Given the description of an element on the screen output the (x, y) to click on. 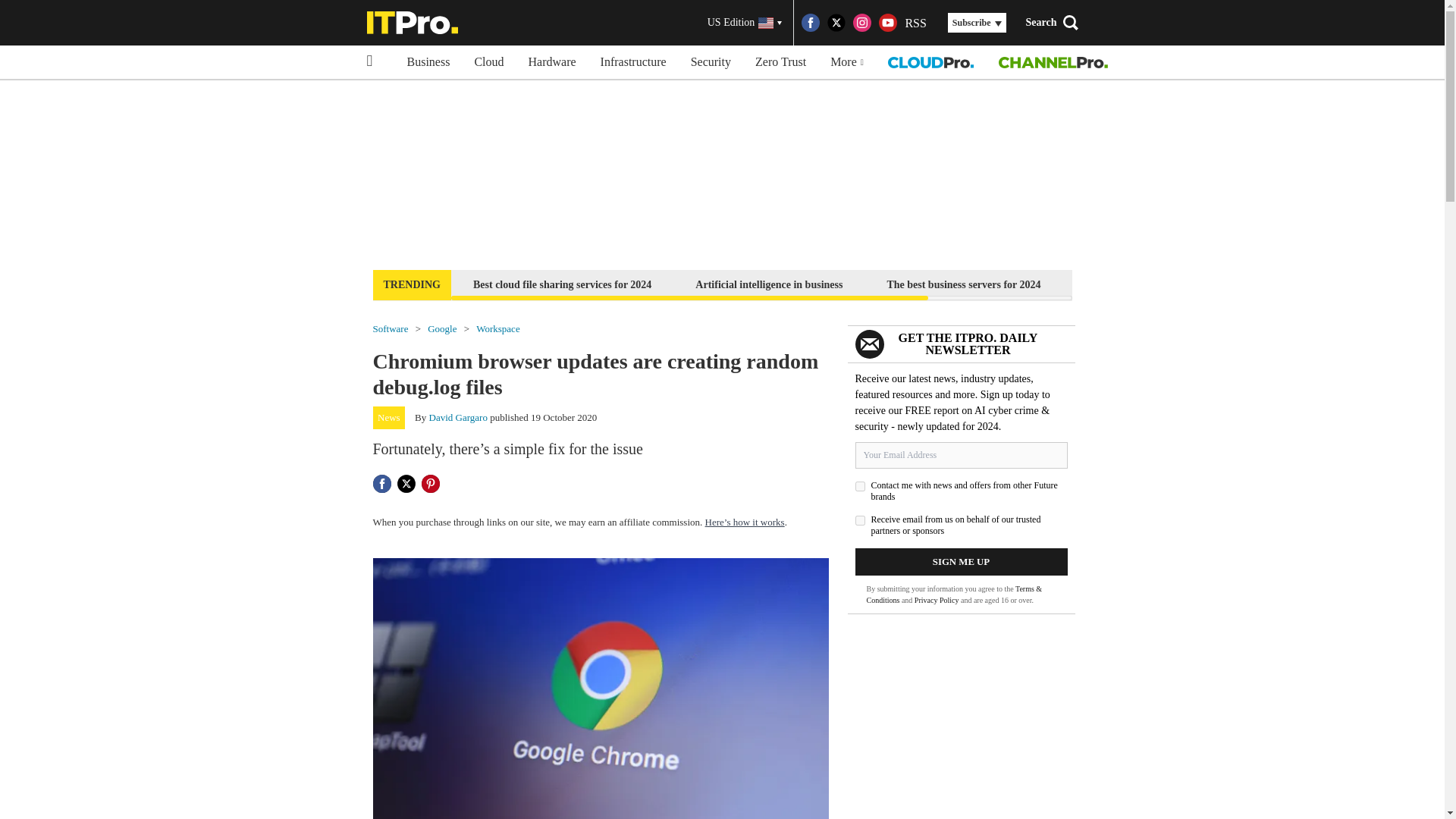
US Edition (745, 22)
on (860, 486)
Subscribe to the ITPro newsletter (1161, 284)
Security (710, 61)
Sign me up (961, 561)
RSS (915, 22)
Best cloud file sharing services for 2024 (561, 284)
Cloud (488, 61)
Artificial intelligence in business (768, 284)
Workspace (497, 327)
